Given the description of an element on the screen output the (x, y) to click on. 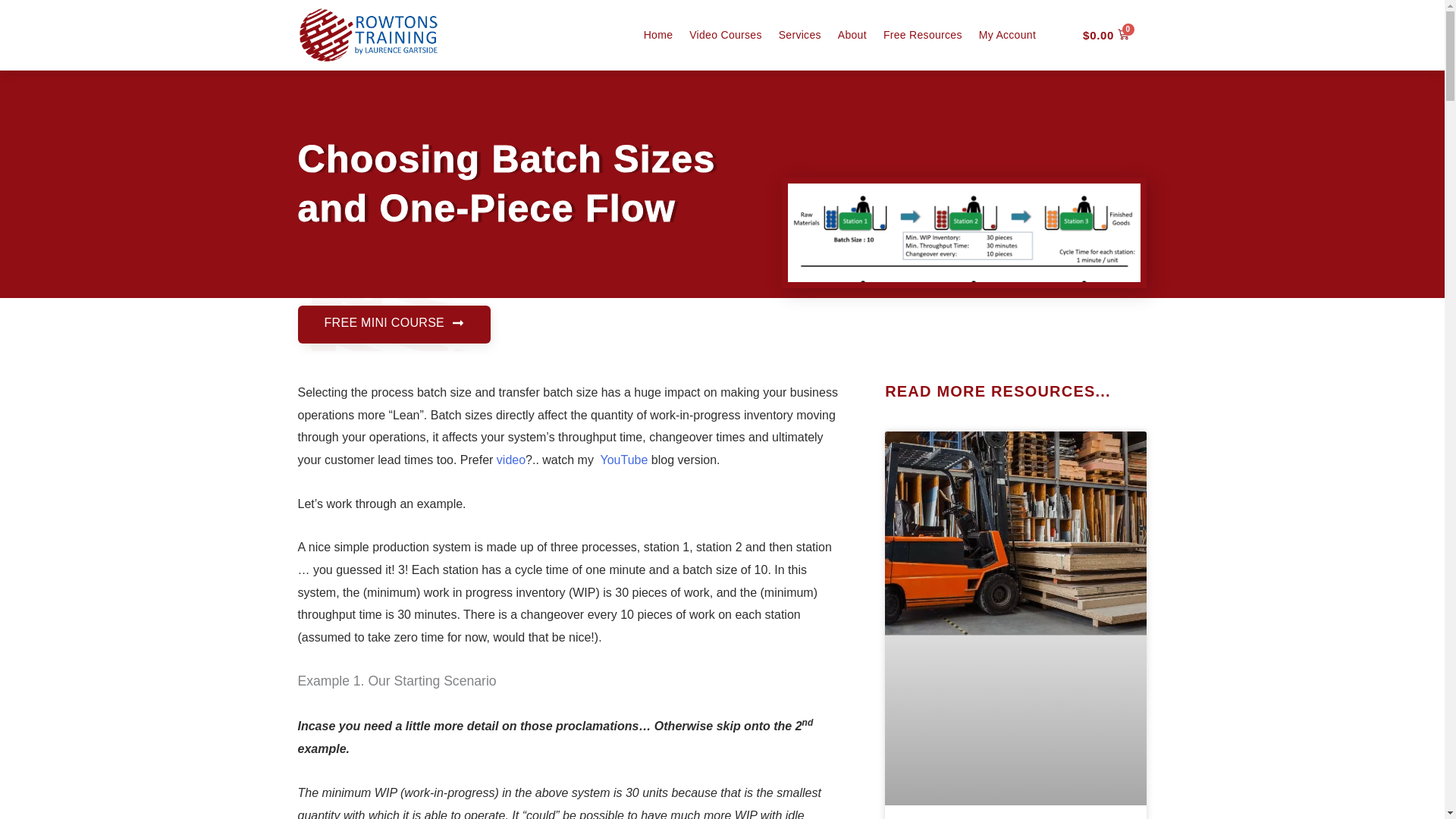
About (851, 34)
Free Resources (922, 34)
FREE MINI COURSE (393, 324)
video (510, 459)
Services (799, 34)
My Account (1006, 34)
YouTube (623, 459)
Video Courses (724, 34)
Home (658, 34)
